Given the description of an element on the screen output the (x, y) to click on. 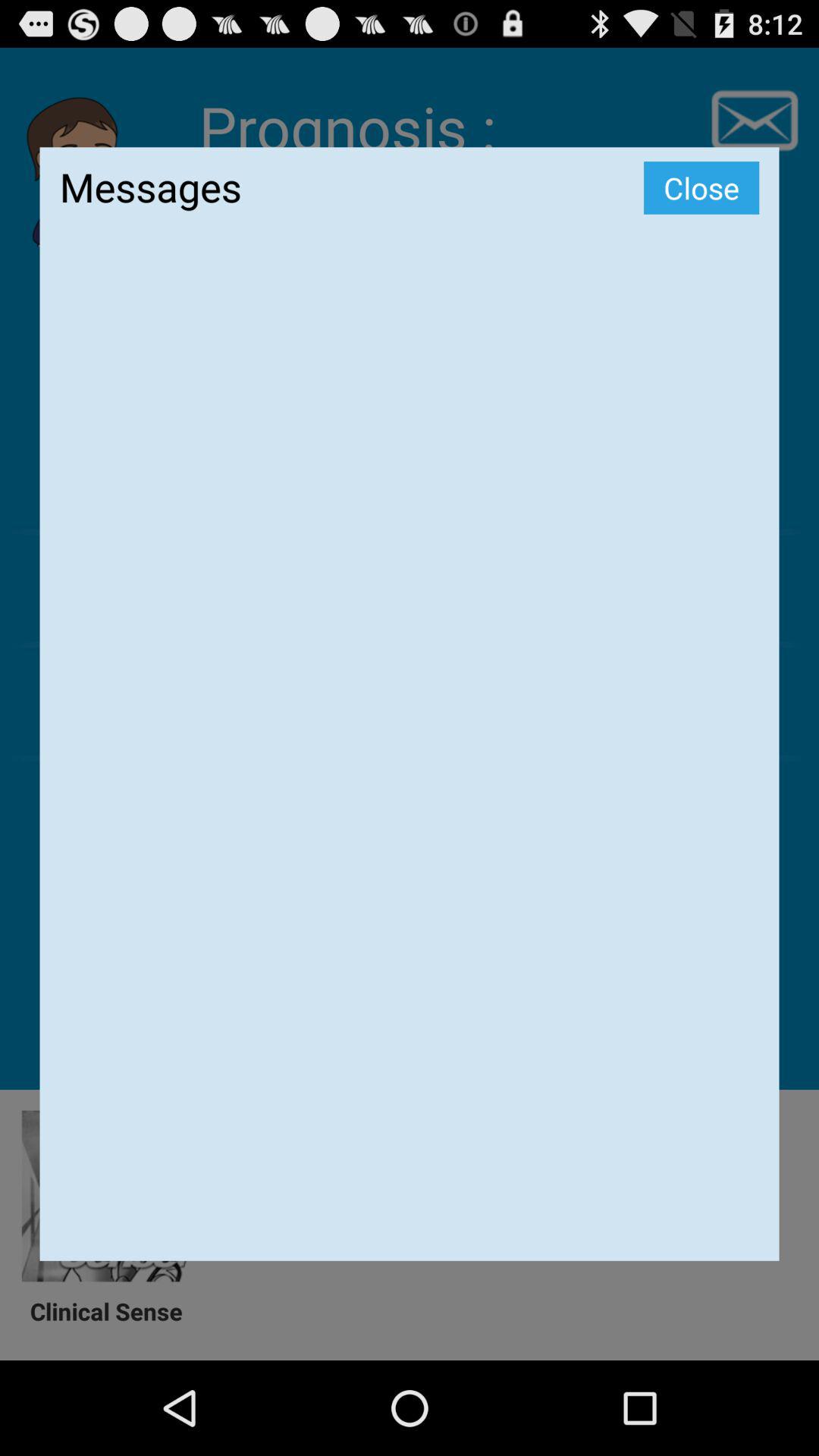
click on message icon at top right (754, 120)
no tagging available (409, 757)
